Given the description of an element on the screen output the (x, y) to click on. 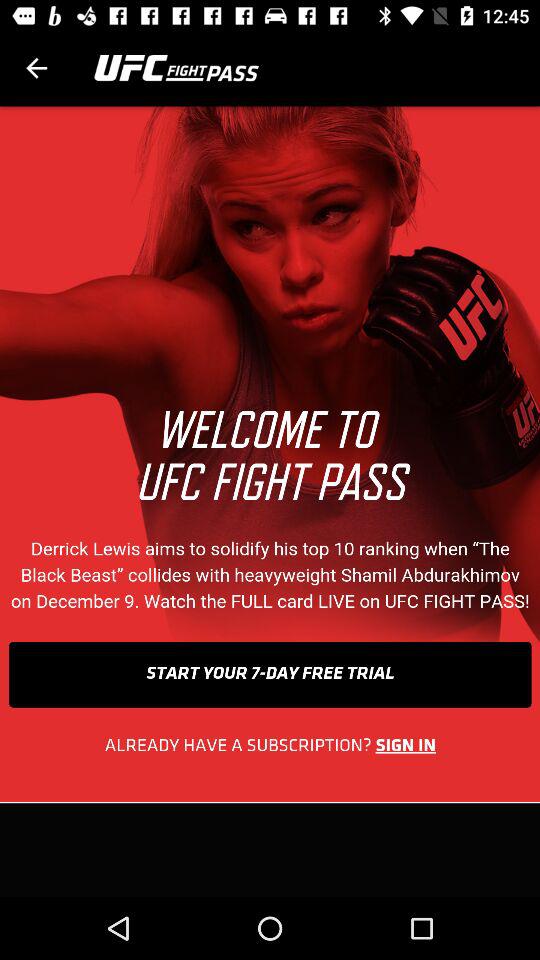
advertisement page (270, 501)
